Given the description of an element on the screen output the (x, y) to click on. 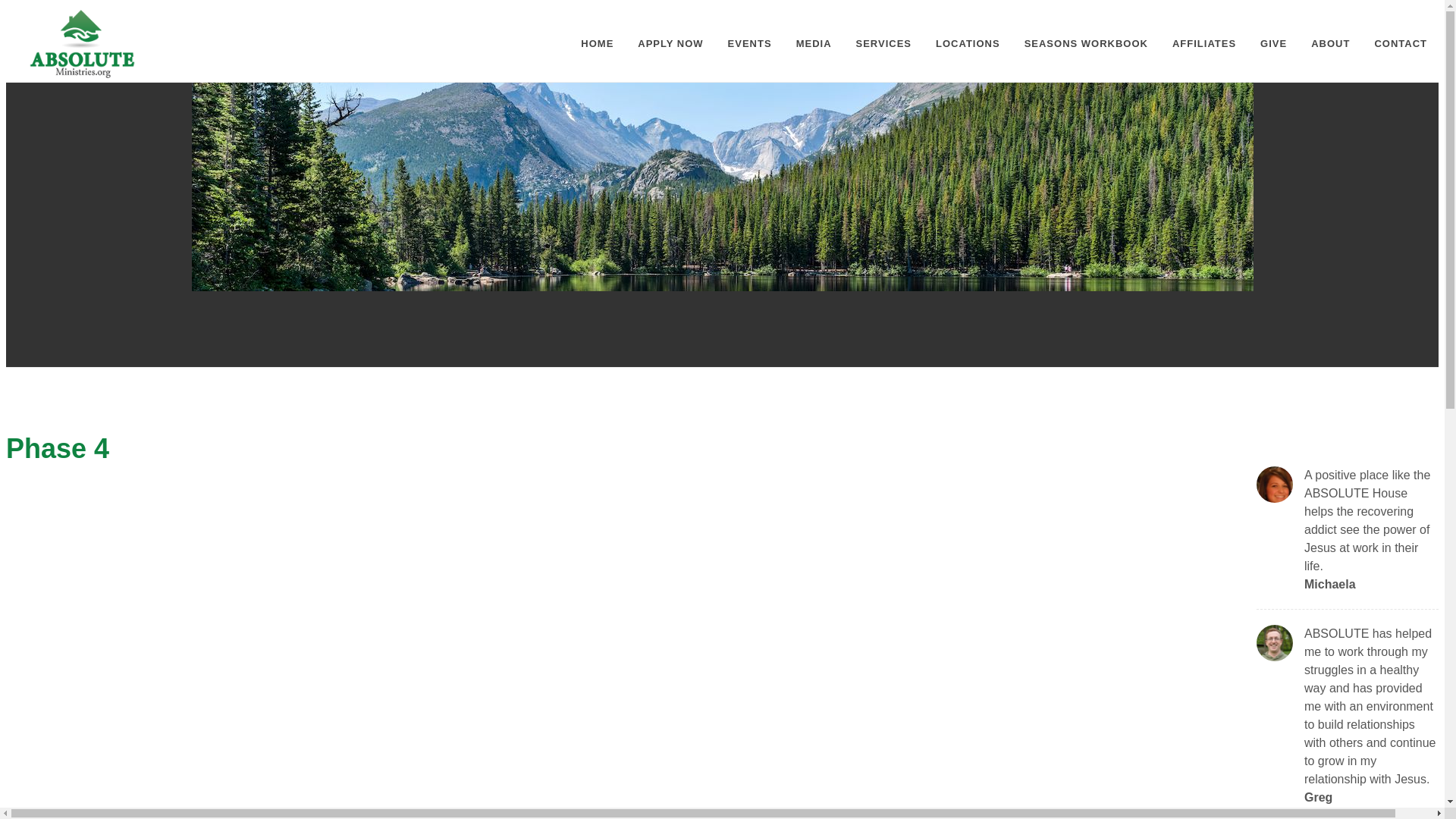
AFFILIATES (1203, 43)
SERVICES (883, 43)
SEASONS WORKBOOK (1085, 43)
APPLY NOW (670, 43)
CONTACT (1400, 43)
LOCATIONS (967, 43)
